Given the description of an element on the screen output the (x, y) to click on. 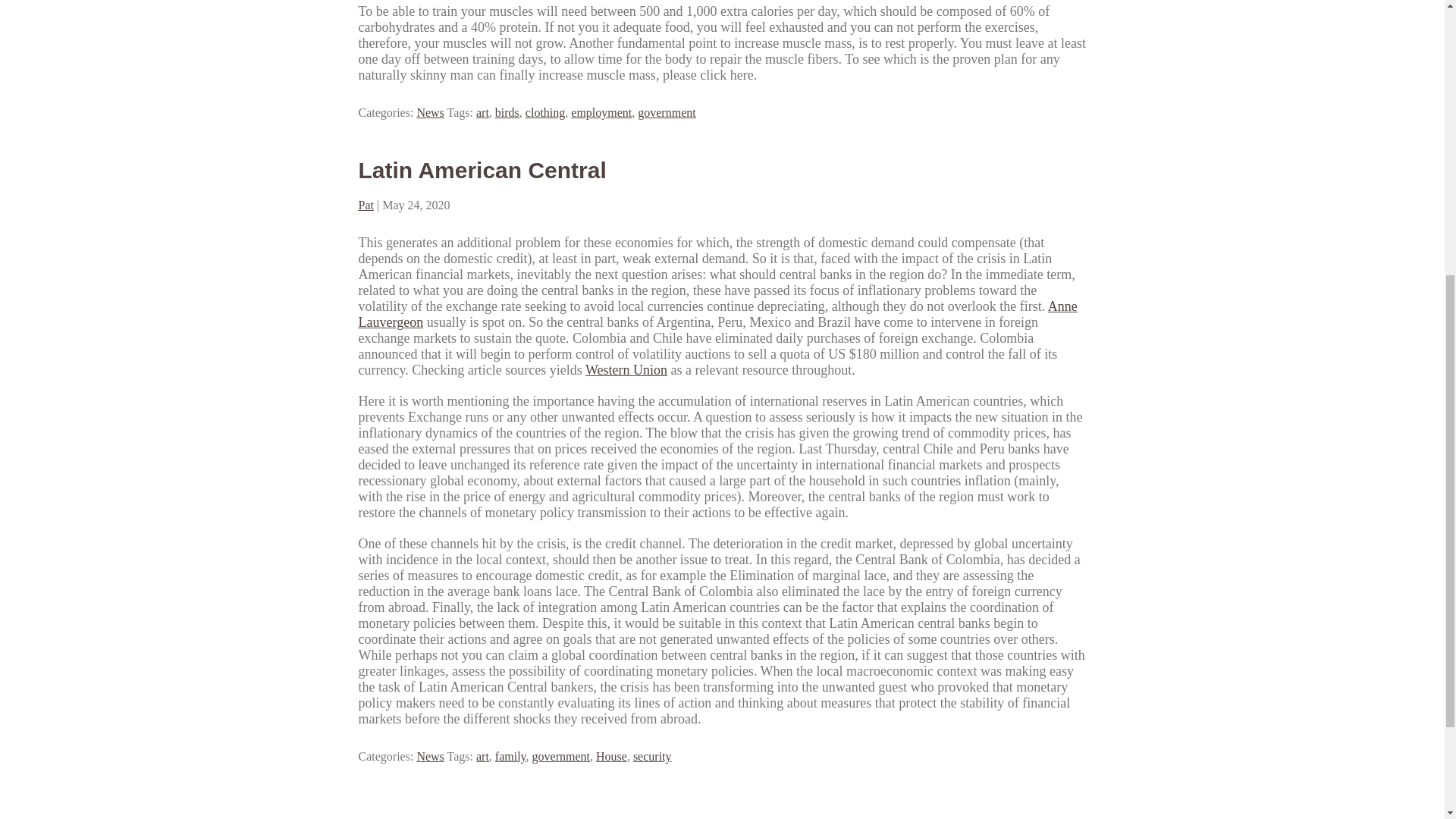
family (510, 756)
clothing (544, 112)
Latin American Central (481, 170)
News (430, 756)
Pat (365, 205)
employment (600, 112)
art (482, 112)
House (611, 756)
birds (507, 112)
art (482, 756)
